Given the description of an element on the screen output the (x, y) to click on. 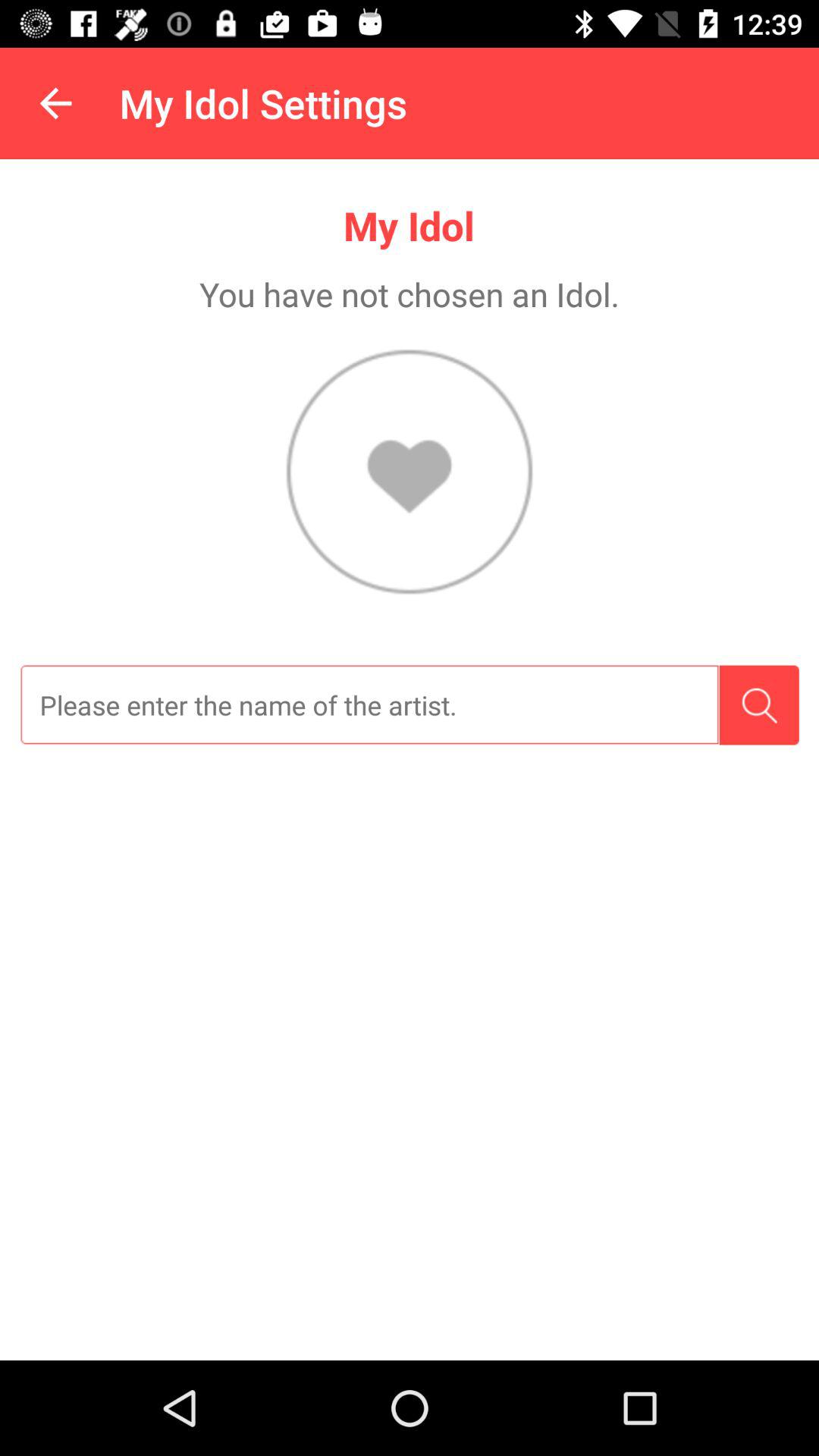
search for something (759, 705)
